Given the description of an element on the screen output the (x, y) to click on. 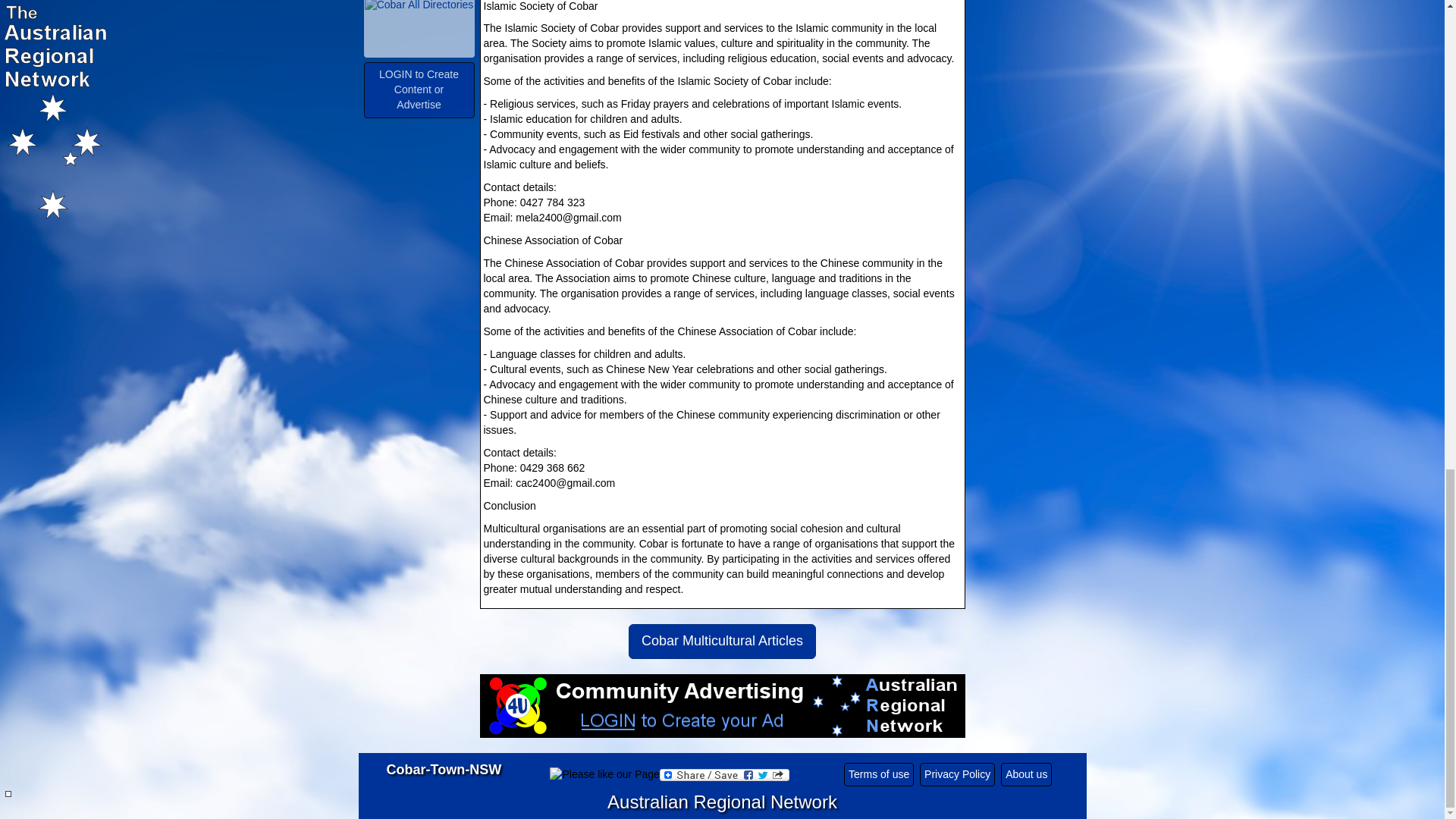
Please like our Page (604, 774)
